Given the description of an element on the screen output the (x, y) to click on. 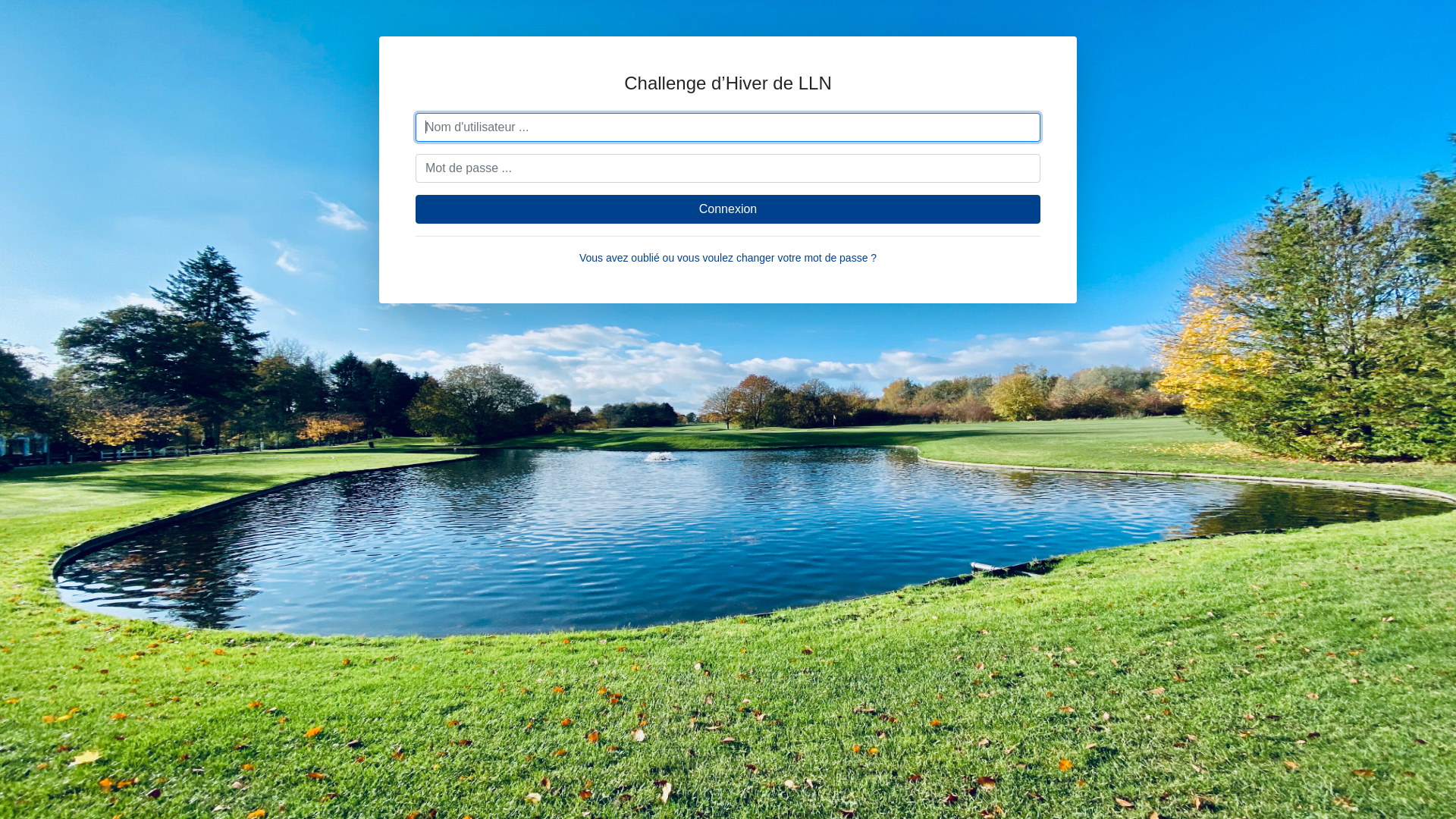
Connexion Element type: text (727, 208)
